Given the description of an element on the screen output the (x, y) to click on. 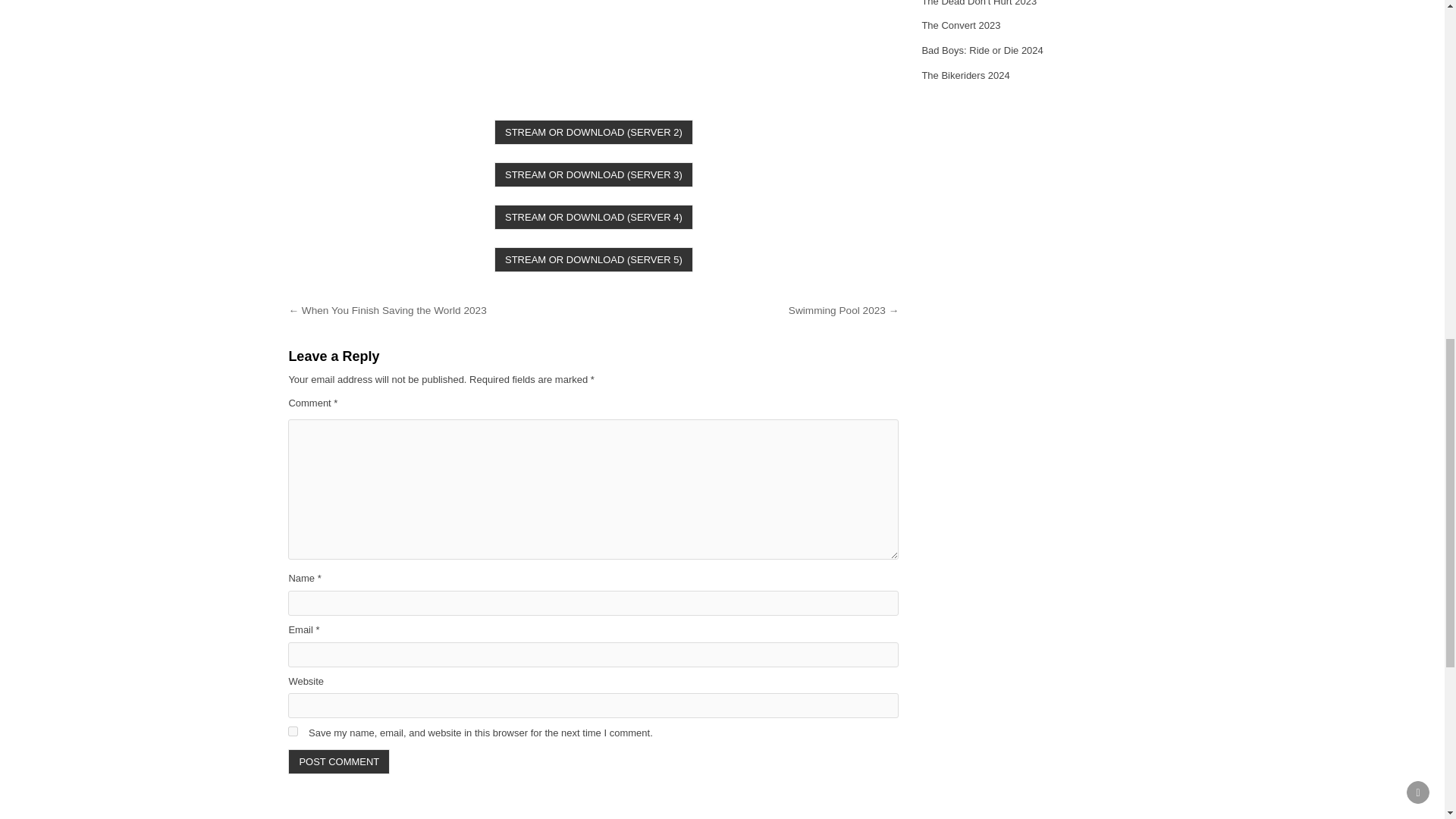
Post Comment (339, 761)
yes (293, 731)
